Given the description of an element on the screen output the (x, y) to click on. 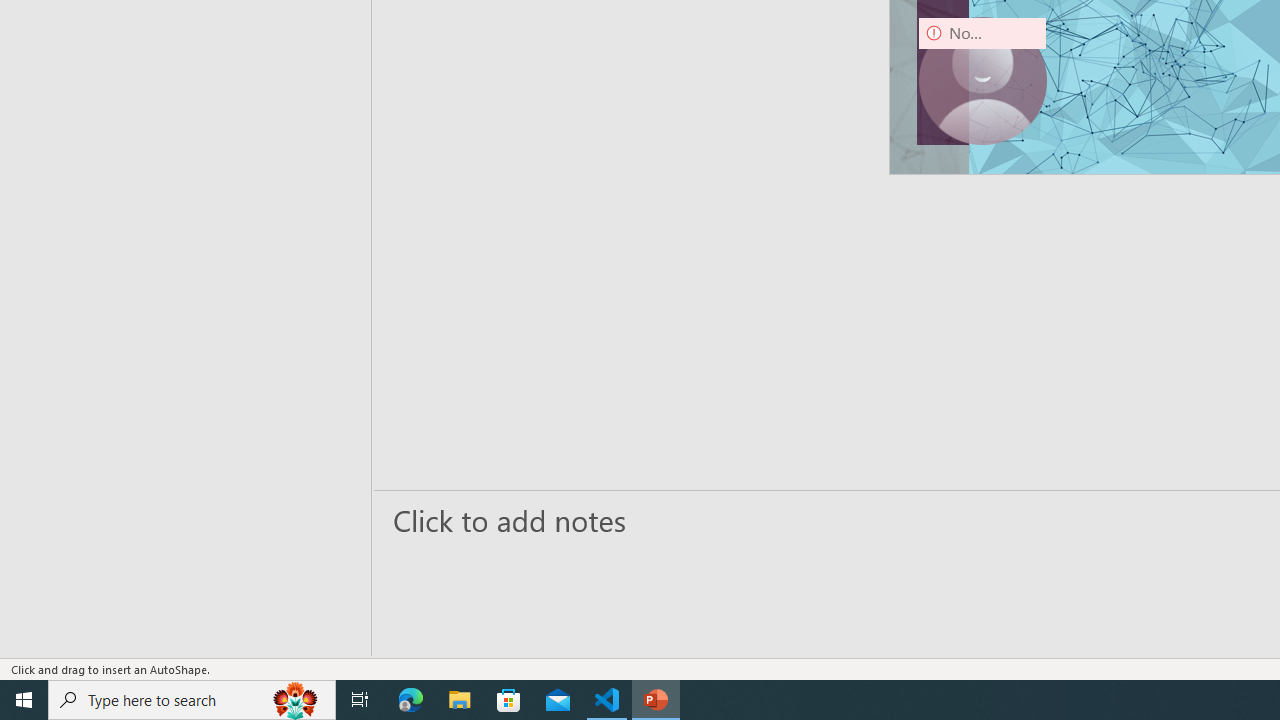
Camera 9, No camera detected. (982, 80)
